Given the description of an element on the screen output the (x, y) to click on. 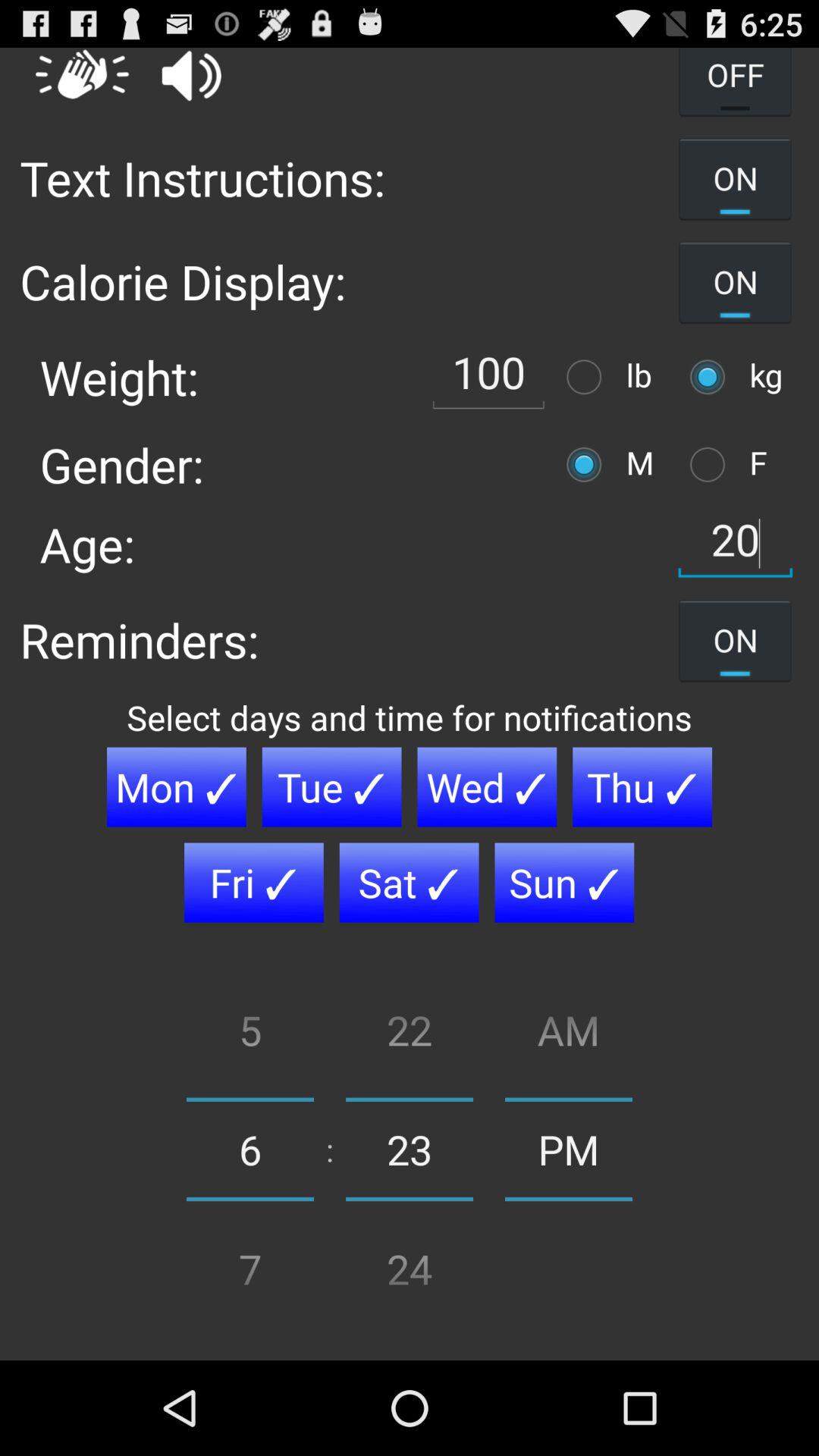
gender selection (711, 464)
